Given the description of an element on the screen output the (x, y) to click on. 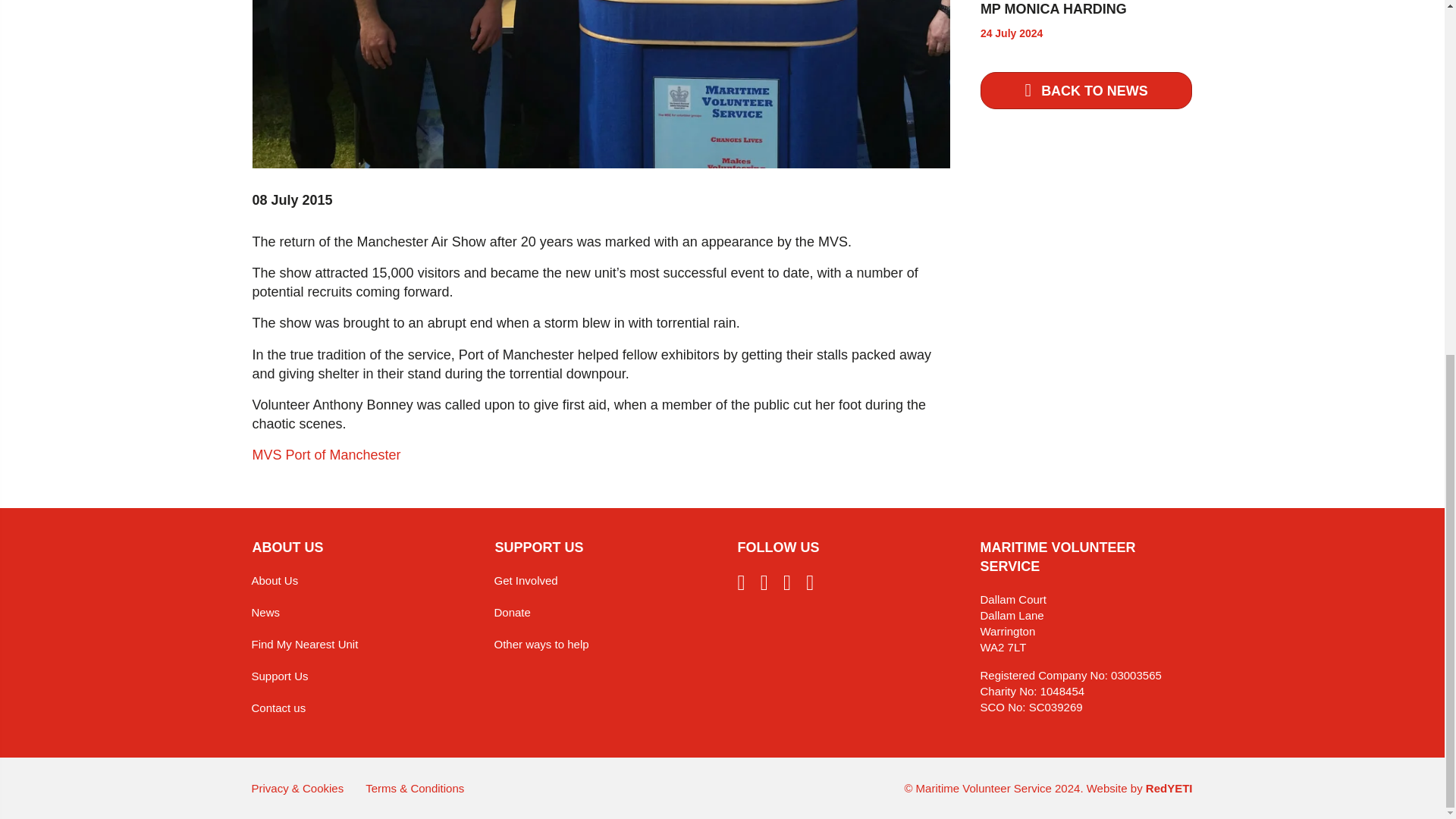
Donate (601, 612)
MVS Port of Manchester (325, 454)
About Us (358, 580)
BACK TO NEWS (1085, 90)
News (358, 612)
Support Us (358, 675)
Contact us (358, 707)
Get Involved (601, 580)
